Given the description of an element on the screen output the (x, y) to click on. 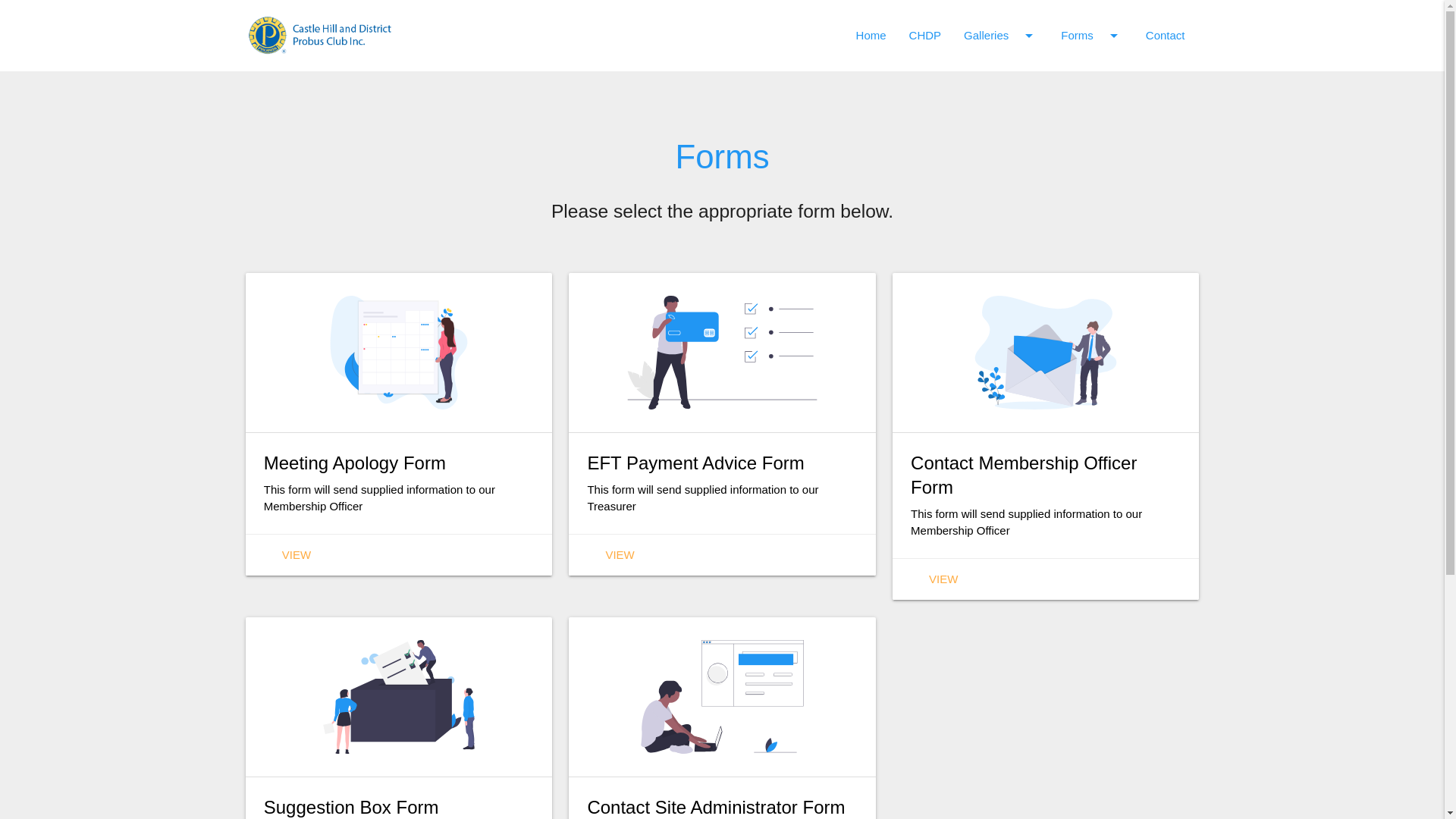
VIEW Element type: text (942, 578)
CHDP Element type: text (925, 35)
Galleries
arrow_drop_down Element type: text (1000, 35)
Forms
arrow_drop_down Element type: text (1091, 35)
VIEW Element type: text (619, 554)
Home Element type: text (870, 35)
VIEW Element type: text (296, 554)
Contact Element type: text (1165, 35)
